Given the description of an element on the screen output the (x, y) to click on. 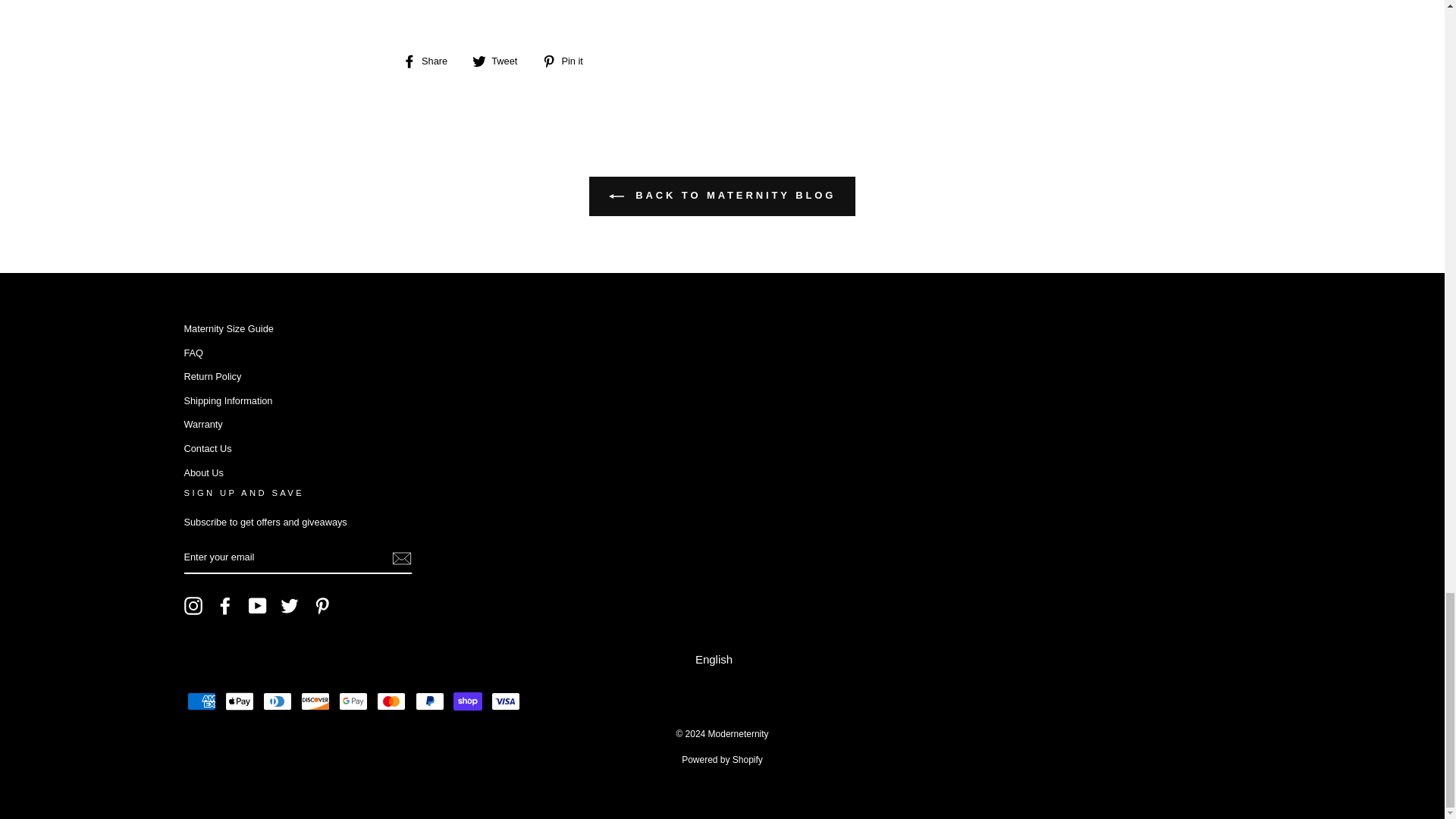
Moderneternity on YouTube (257, 606)
Tweet on Twitter (499, 60)
Moderneternity on Pinterest (322, 606)
Pin on Pinterest (567, 60)
Moderneternity on Facebook (224, 606)
Moderneternity on Instagram (192, 606)
Moderneternity on Twitter (289, 606)
American Express (200, 701)
Share on Facebook (430, 60)
Apple Pay (239, 701)
